Given the description of an element on the screen output the (x, y) to click on. 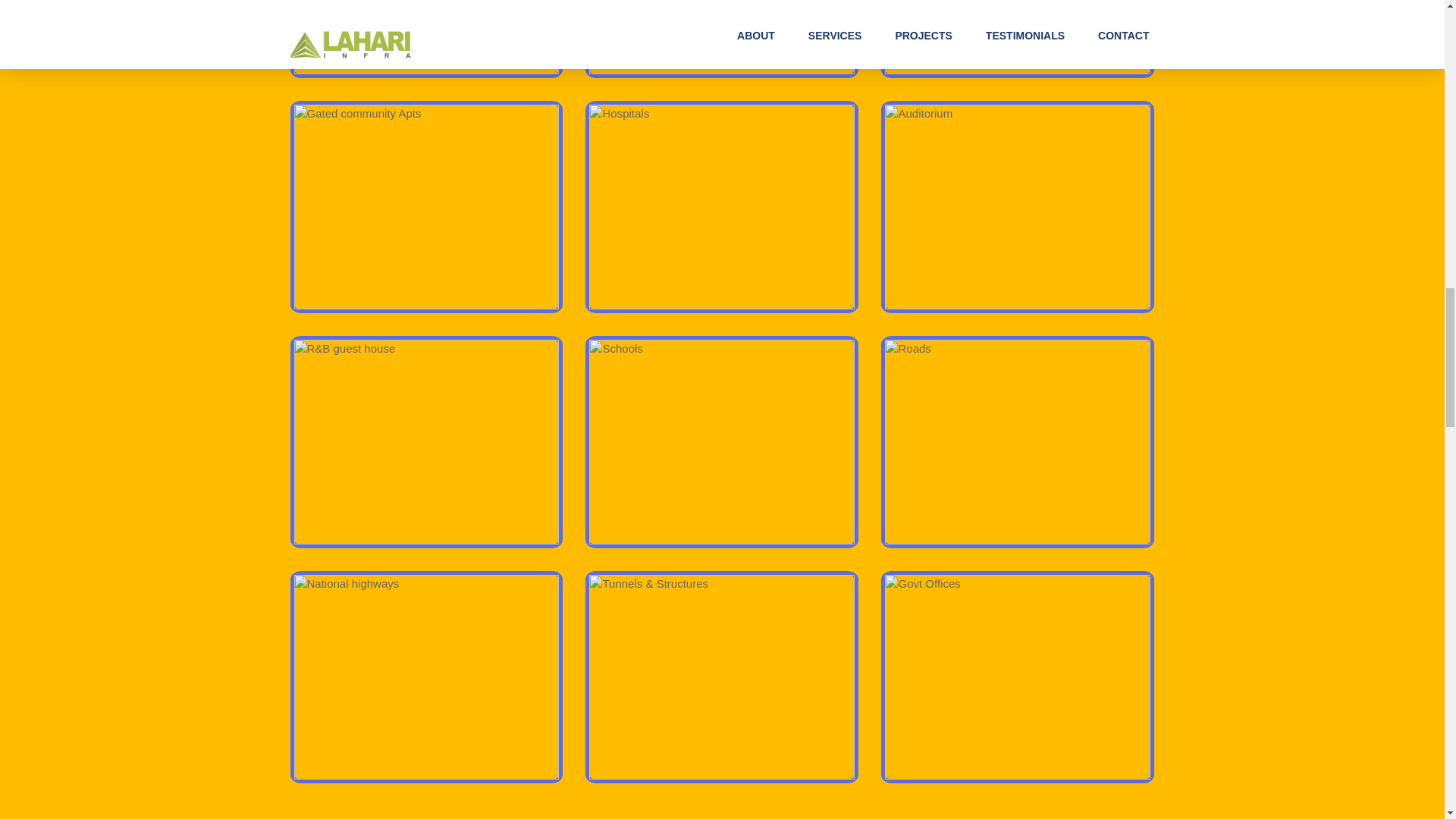
Hospitals (721, 206)
2 BHK house  (426, 37)
Gated community Apts (426, 206)
Schools (721, 441)
High range buildings (1017, 37)
Auditorium (1017, 206)
Govt Offices (1017, 676)
Roads (1017, 441)
National highways  (426, 676)
Residential apartments  (721, 37)
